Given the description of an element on the screen output the (x, y) to click on. 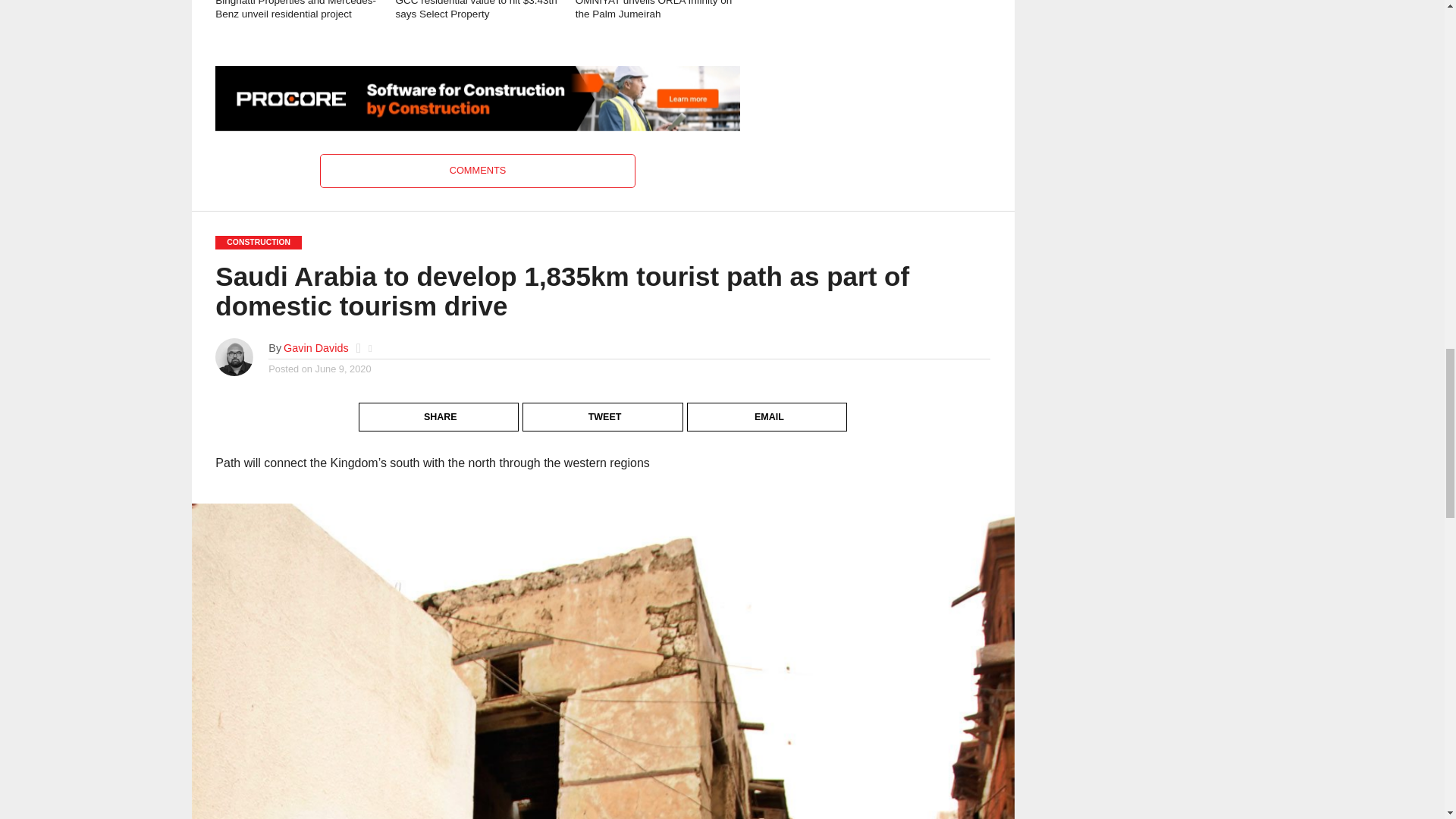
Posts by Gavin Davids (316, 347)
Share on Facebook (440, 404)
Tweet This Post (603, 404)
